Given the description of an element on the screen output the (x, y) to click on. 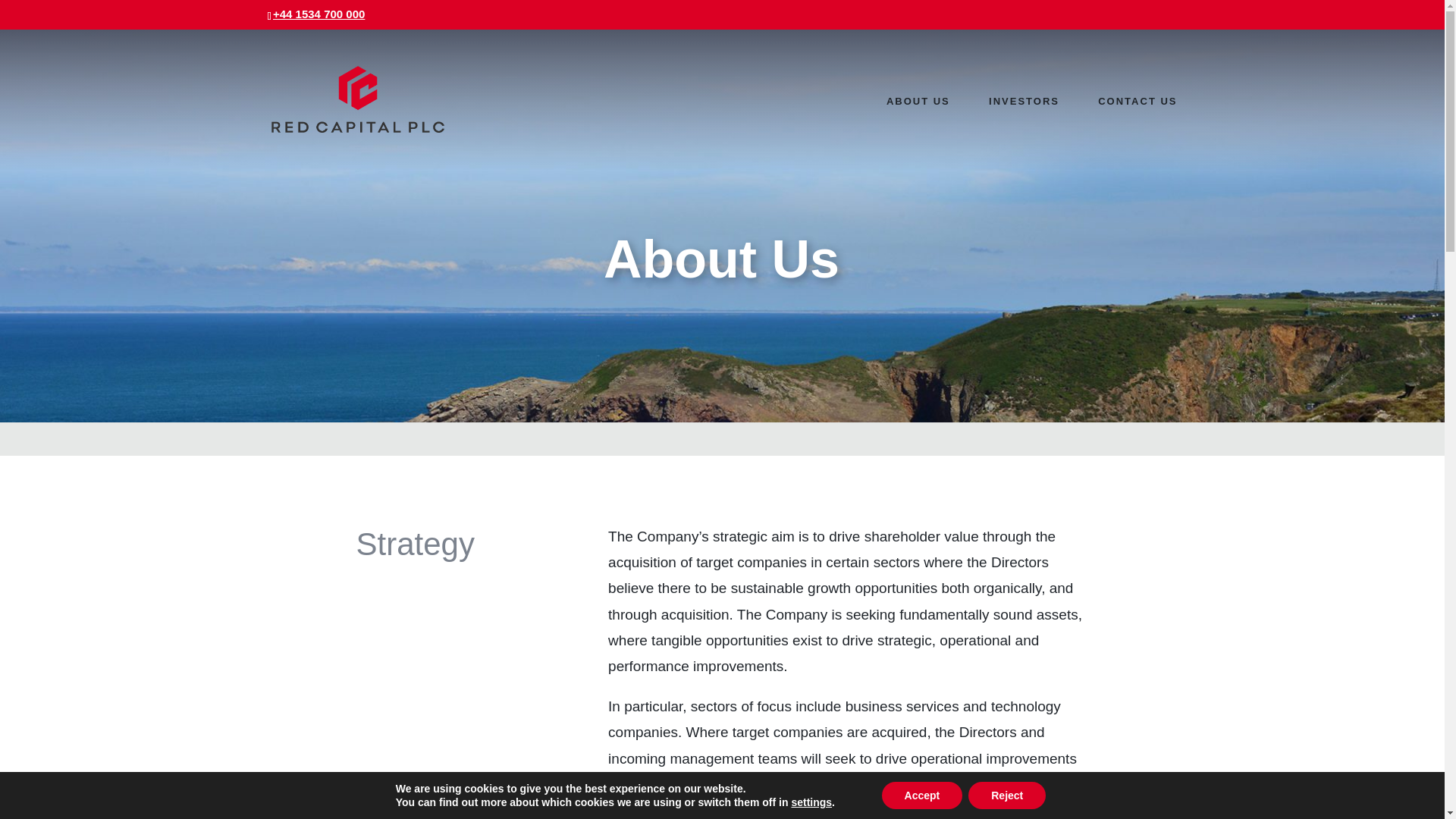
settings (810, 802)
Accept (922, 795)
Reject (1006, 795)
INVESTORS (1023, 131)
CONTACT US (1136, 131)
